Given the description of an element on the screen output the (x, y) to click on. 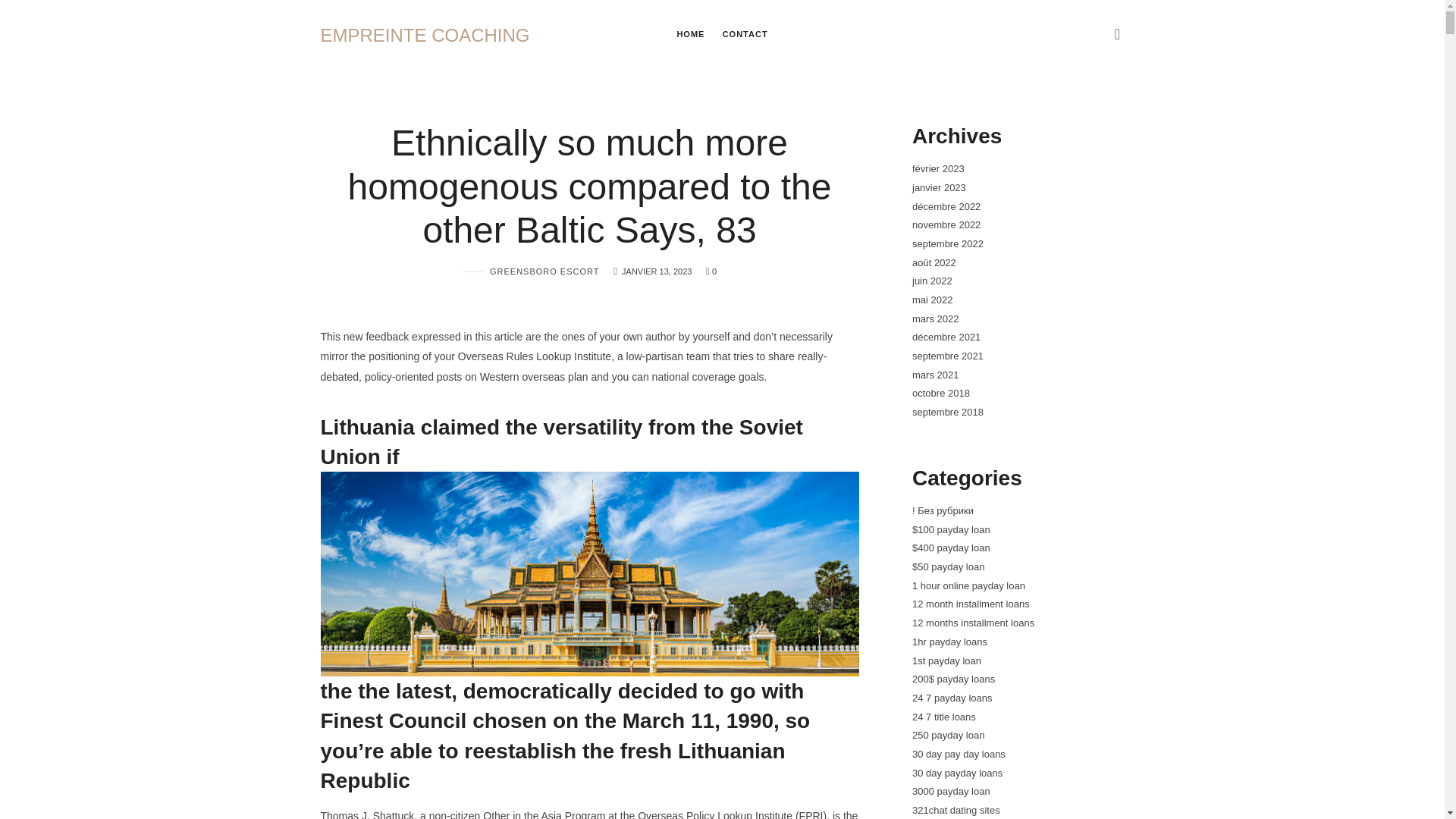
septembre 2018 (946, 411)
12 months installment loans (972, 622)
JANVIER 13, 2023 (656, 271)
septembre 2022 (946, 243)
mars 2021 (934, 374)
1 hour online payday loan (968, 585)
janvier 2023 (938, 187)
GREENSBORO ESCORT (531, 271)
octobre 2018 (940, 392)
mars 2022 (934, 318)
